Given the description of an element on the screen output the (x, y) to click on. 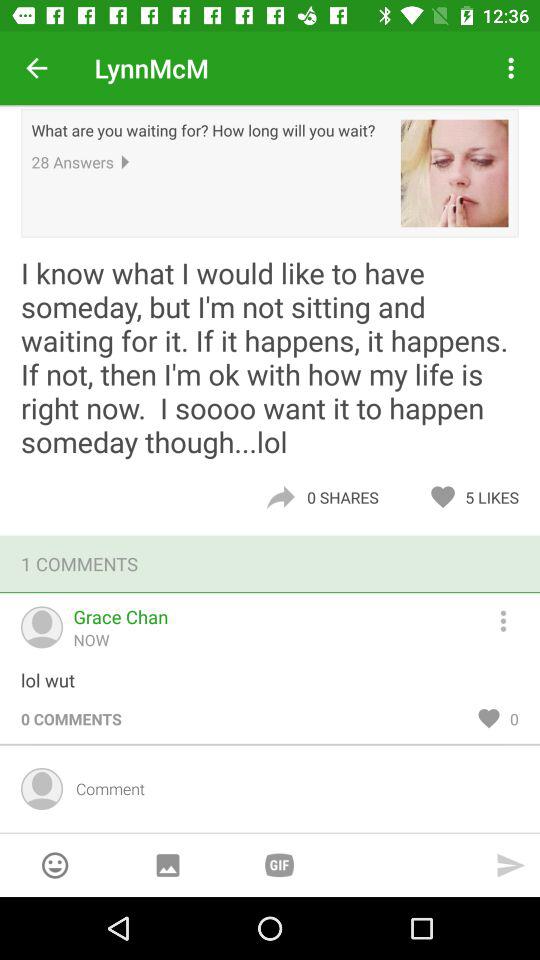
display image gallery (167, 865)
